Given the description of an element on the screen output the (x, y) to click on. 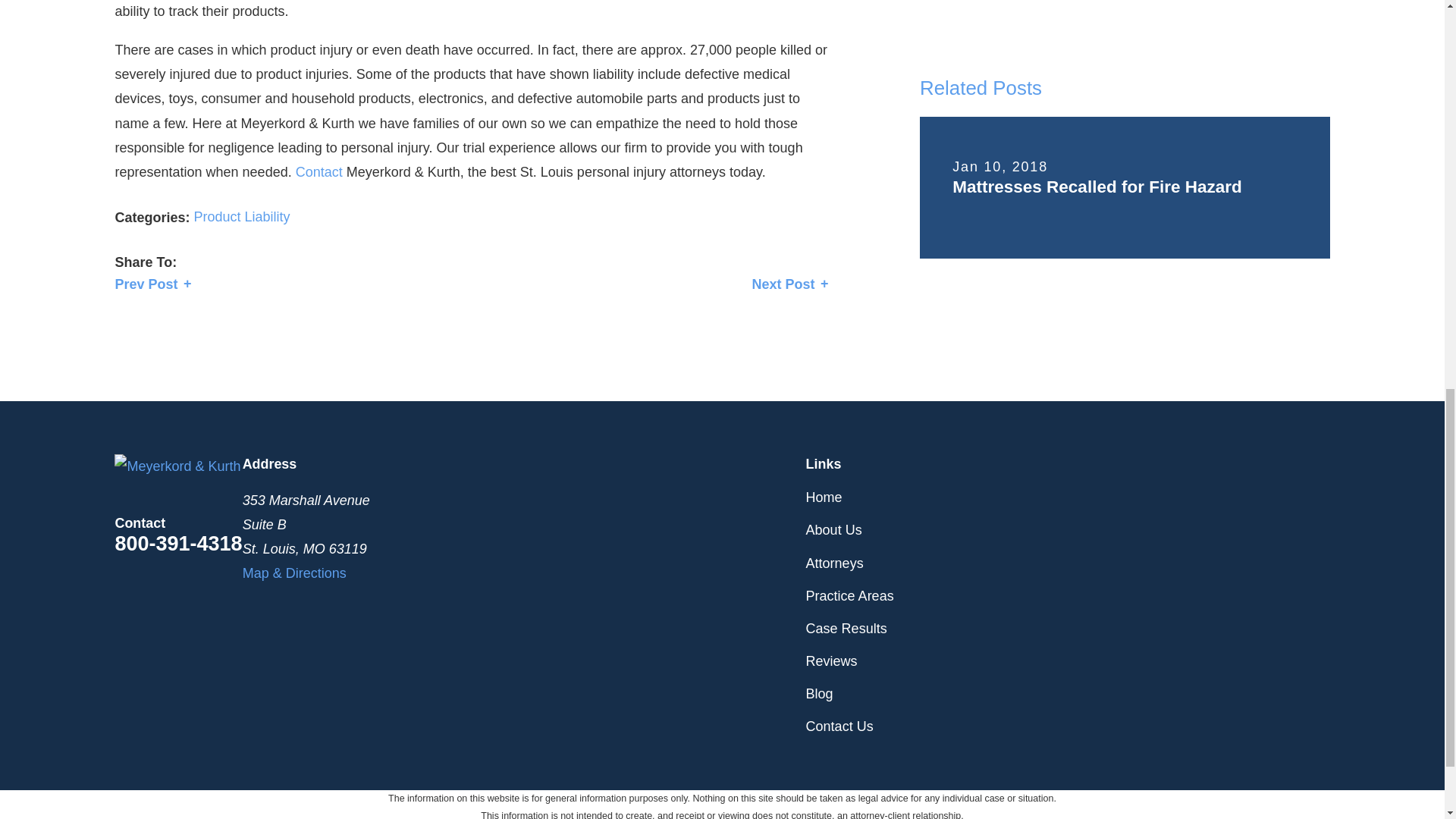
Home (178, 466)
